Given the description of an element on the screen output the (x, y) to click on. 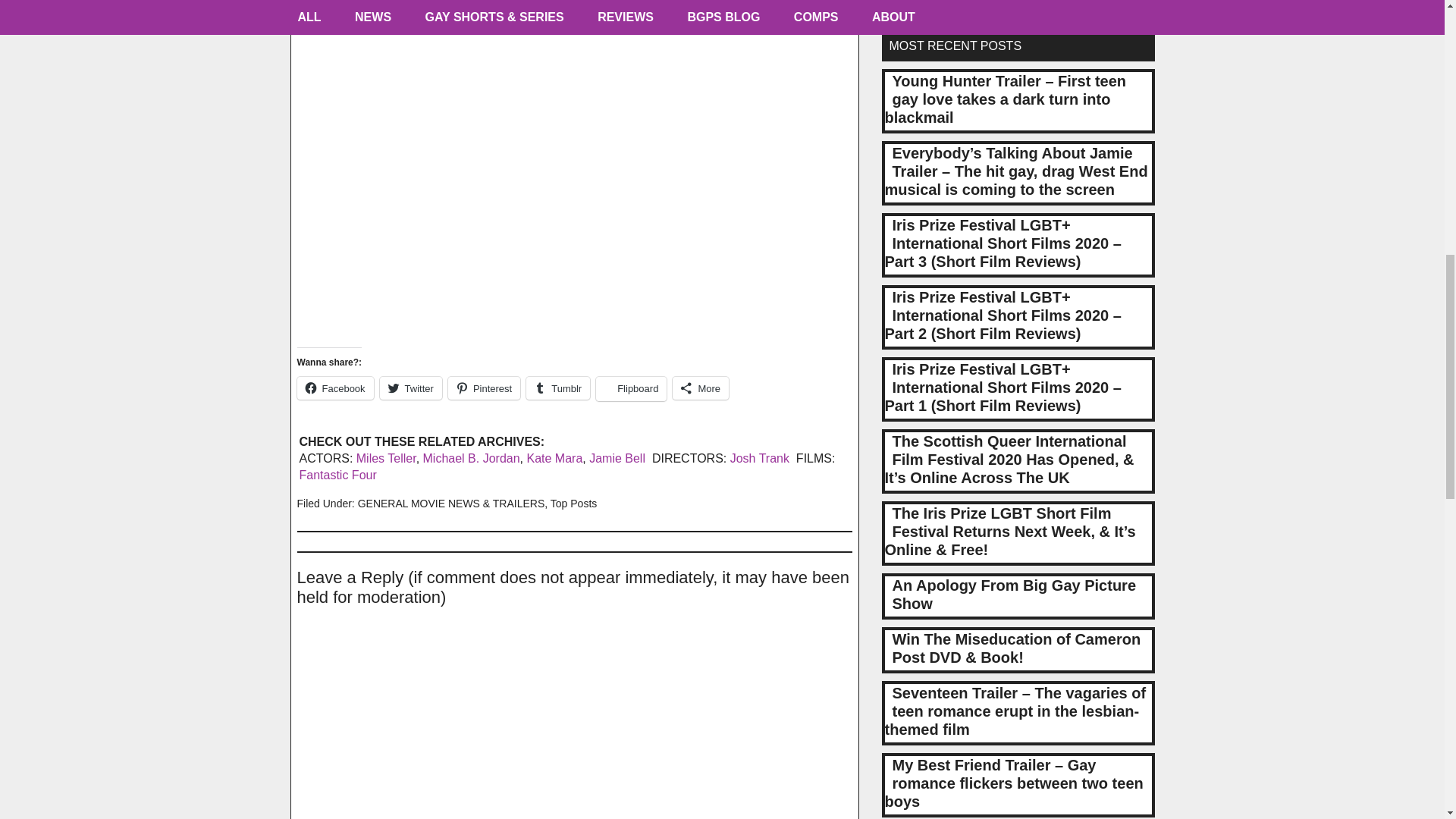
More (700, 387)
Click to share on Twitter (411, 387)
Twitter (411, 387)
Facebook (335, 387)
Flipboard (630, 388)
Click to share on Pinterest (483, 387)
Michael B. Jordan (471, 458)
Miles Teller (386, 458)
Kate Mara (553, 458)
Click to share on Tumblr (557, 387)
